Given the description of an element on the screen output the (x, y) to click on. 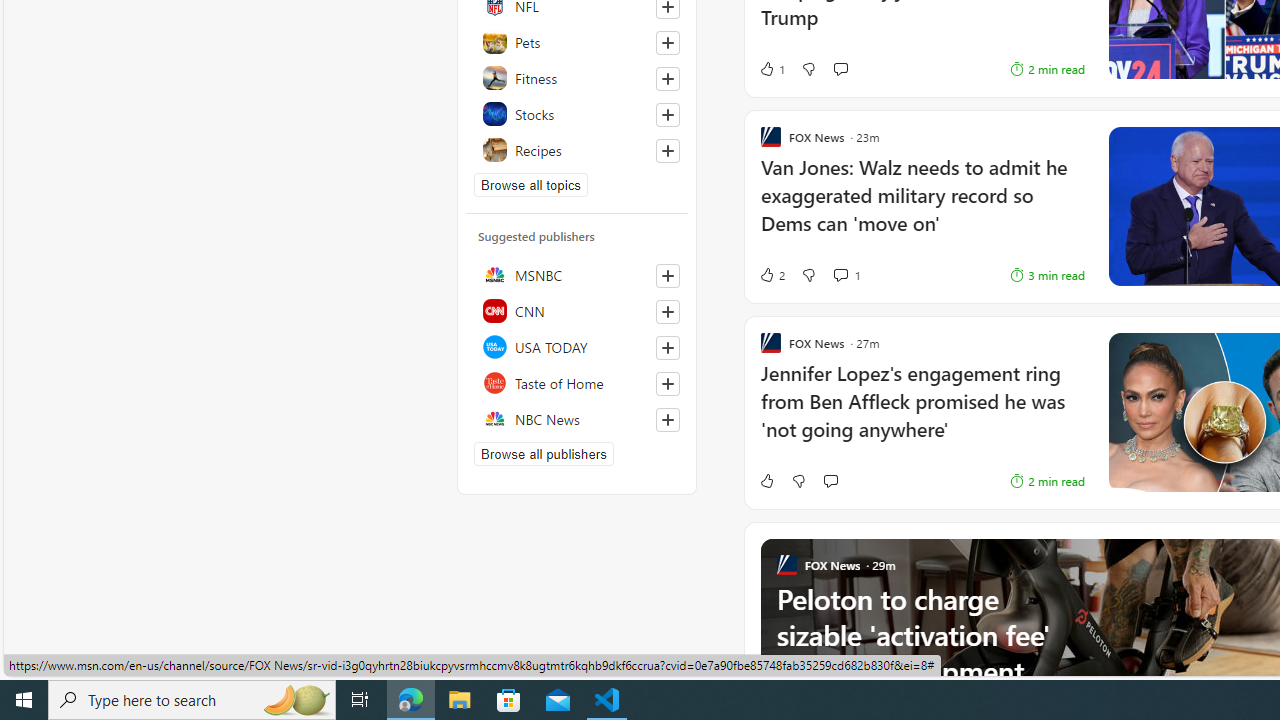
Browse all topics (530, 184)
Browse all publishers (543, 453)
USA TODAY (577, 346)
Follow this source (667, 420)
Taste of Home (577, 382)
1 Like (771, 68)
